Given the description of an element on the screen output the (x, y) to click on. 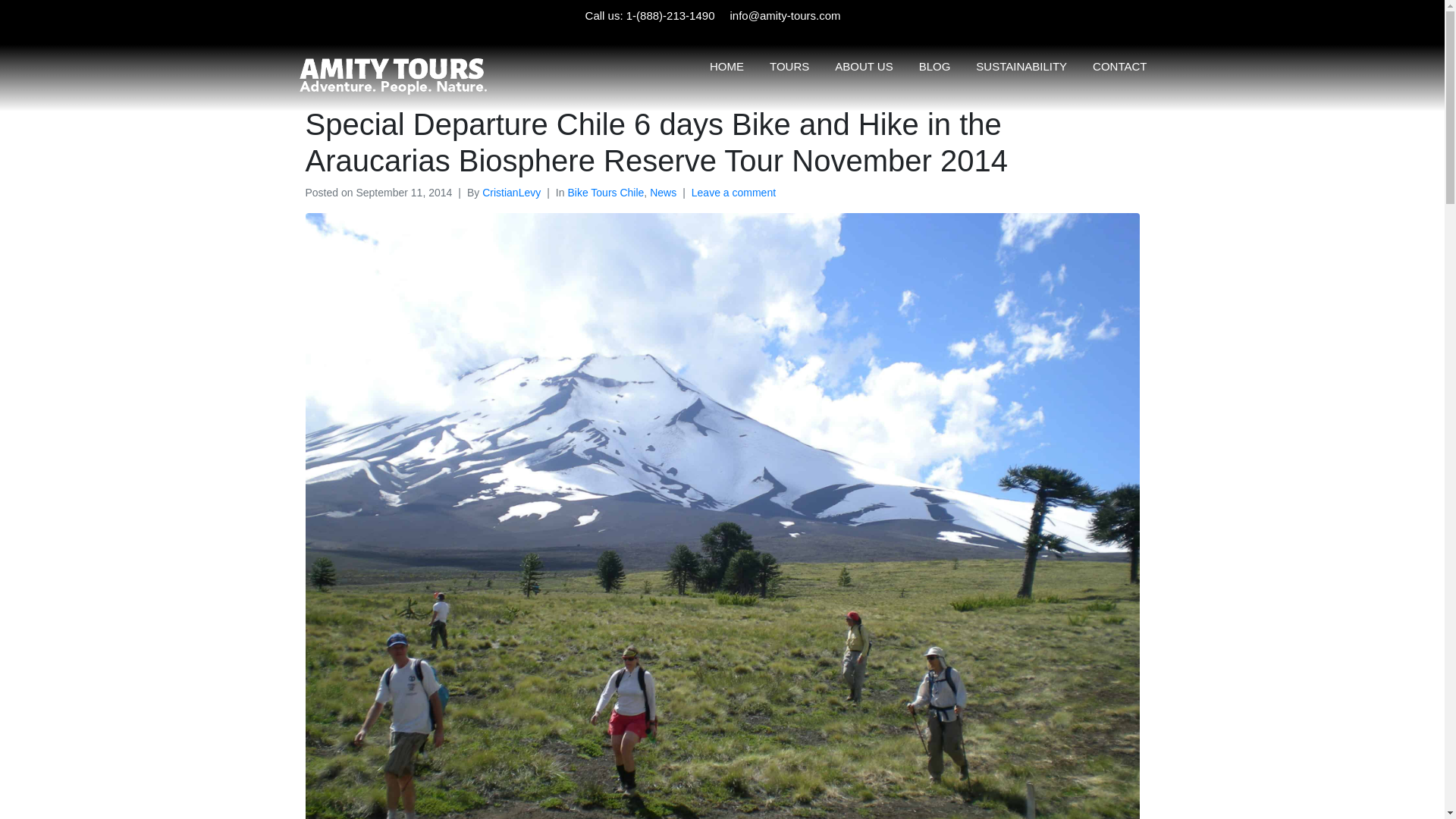
ABOUT US (863, 65)
HOME (727, 65)
TOURS (789, 65)
